Given the description of an element on the screen output the (x, y) to click on. 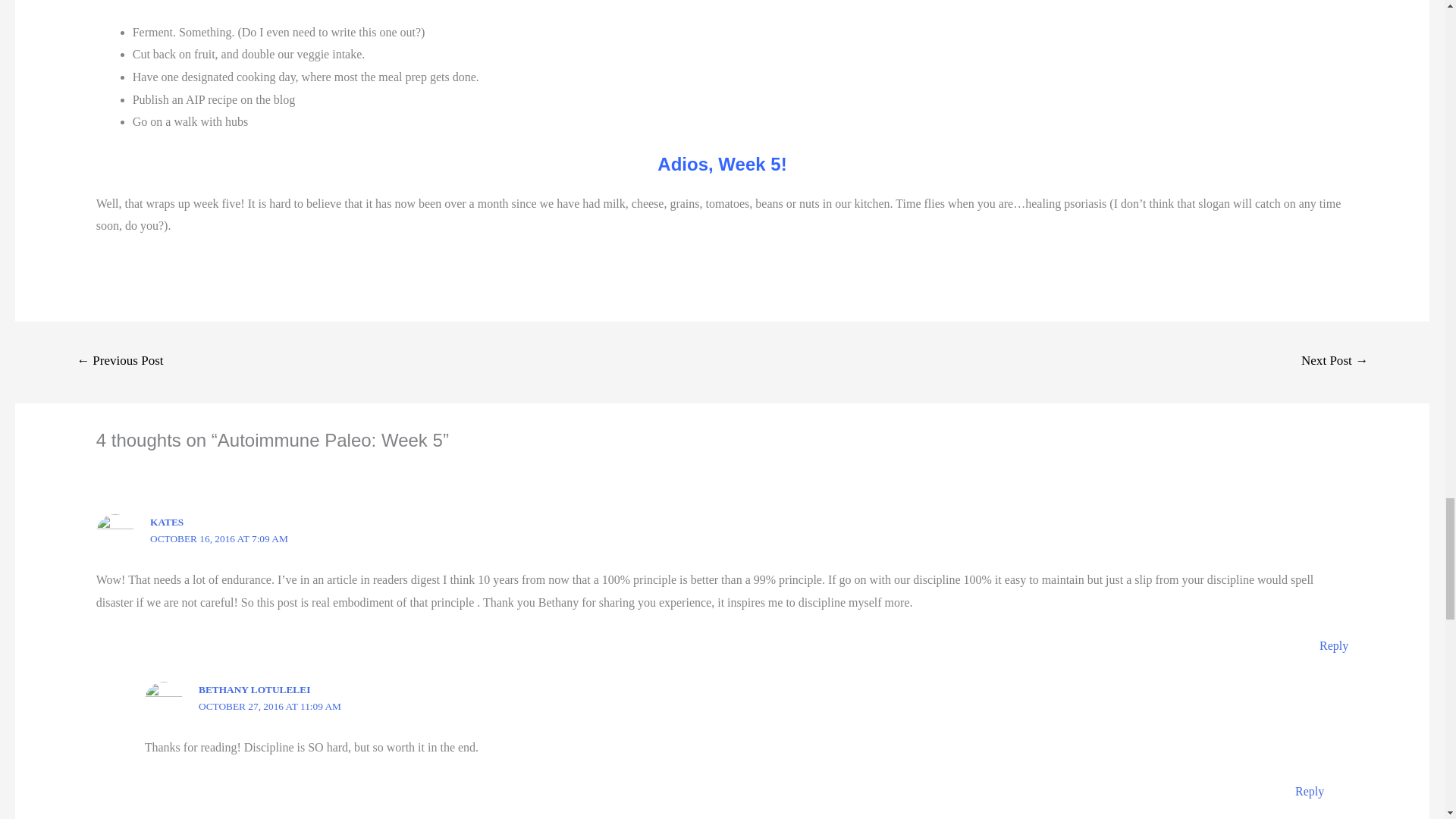
OCTOBER 16, 2016 AT 7:09 AM (218, 538)
Reply (1309, 790)
KATES (166, 521)
OCTOBER 27, 2016 AT 11:09 AM (269, 706)
BETHANY LOTULELEI (254, 689)
Reply (1333, 645)
